Given the description of an element on the screen output the (x, y) to click on. 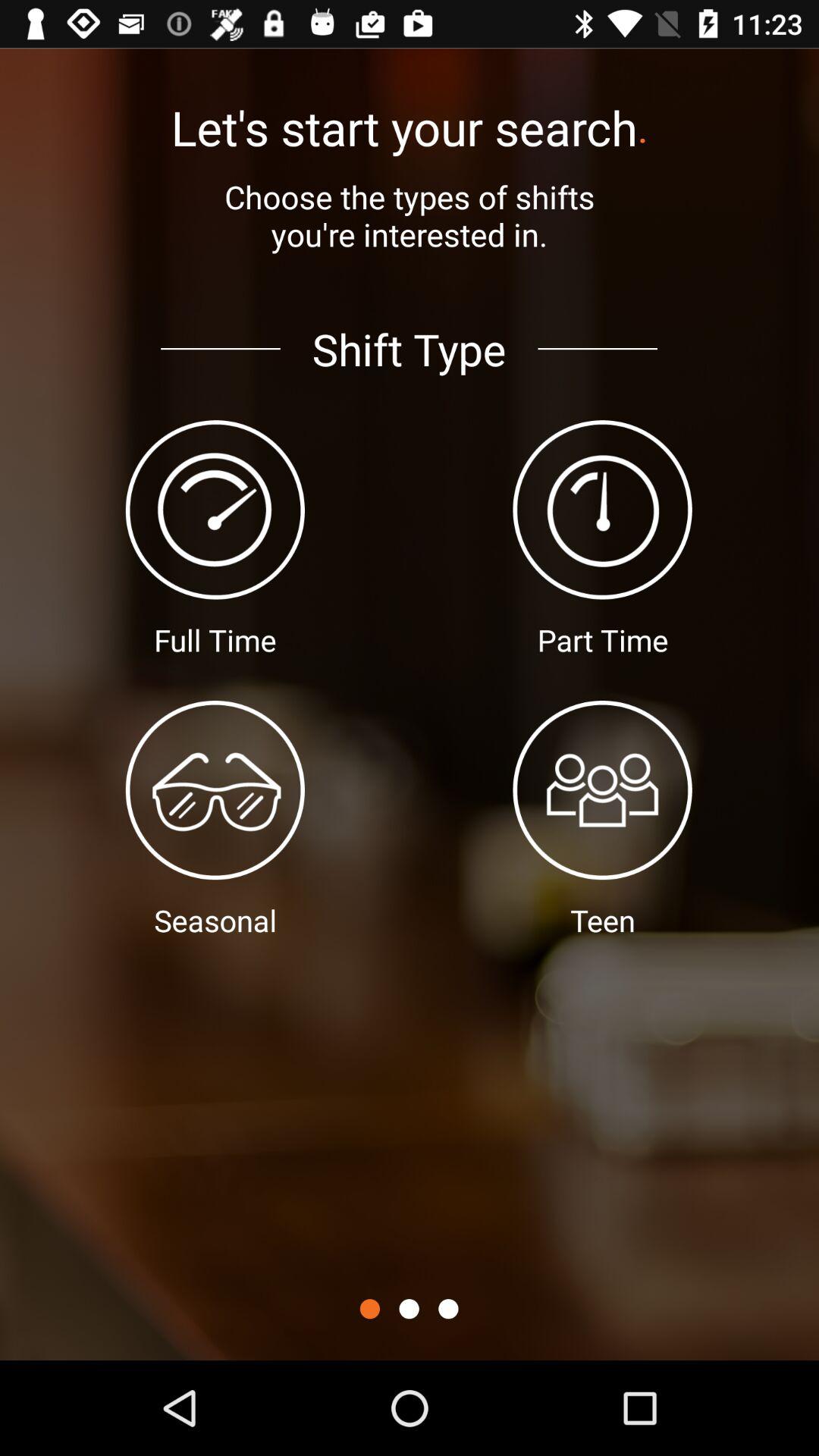
go to third page of setup (448, 1308)
